Given the description of an element on the screen output the (x, y) to click on. 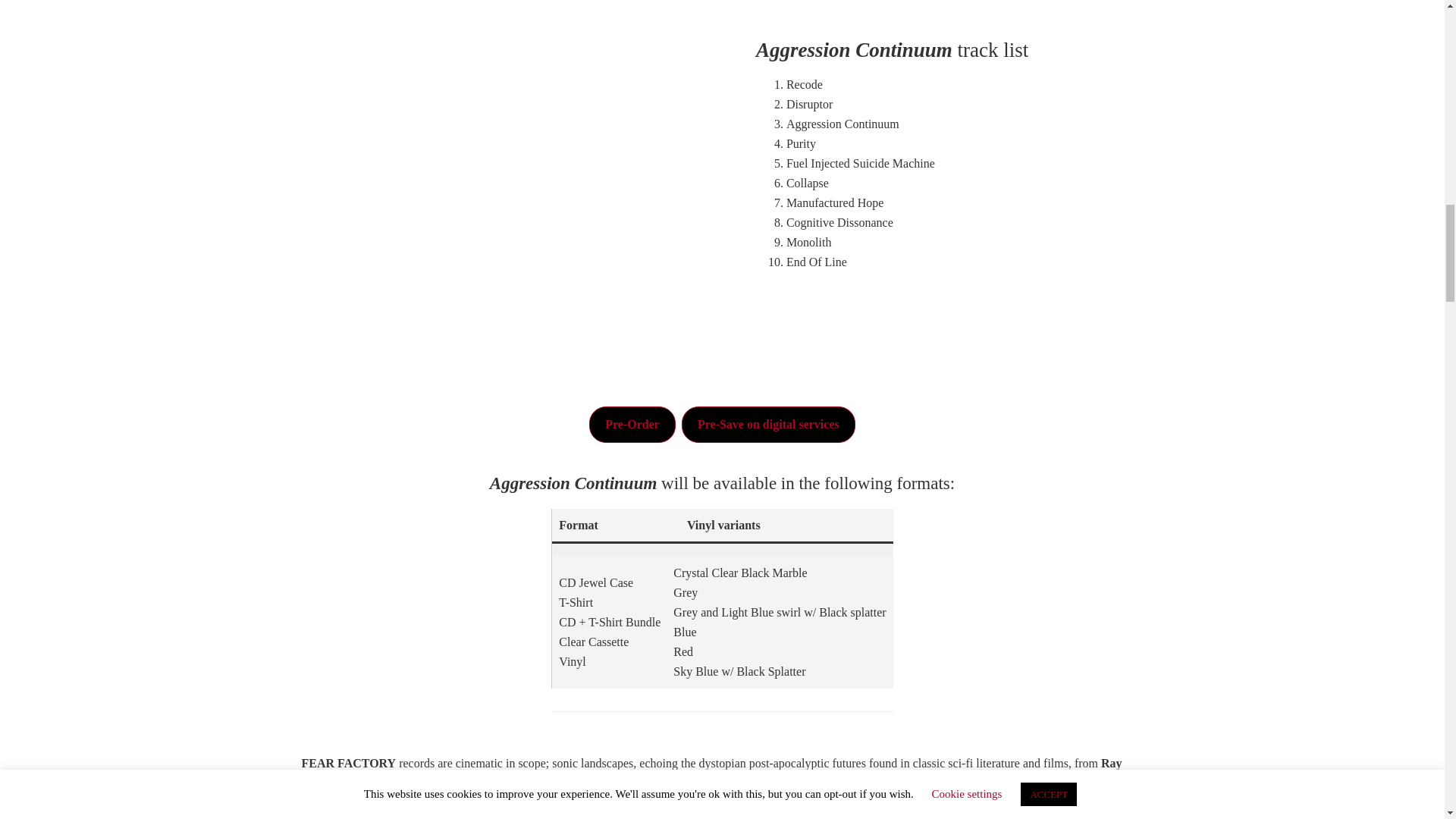
Pre-Order (632, 424)
Pre-Save on digital services (768, 424)
